Given the description of an element on the screen output the (x, y) to click on. 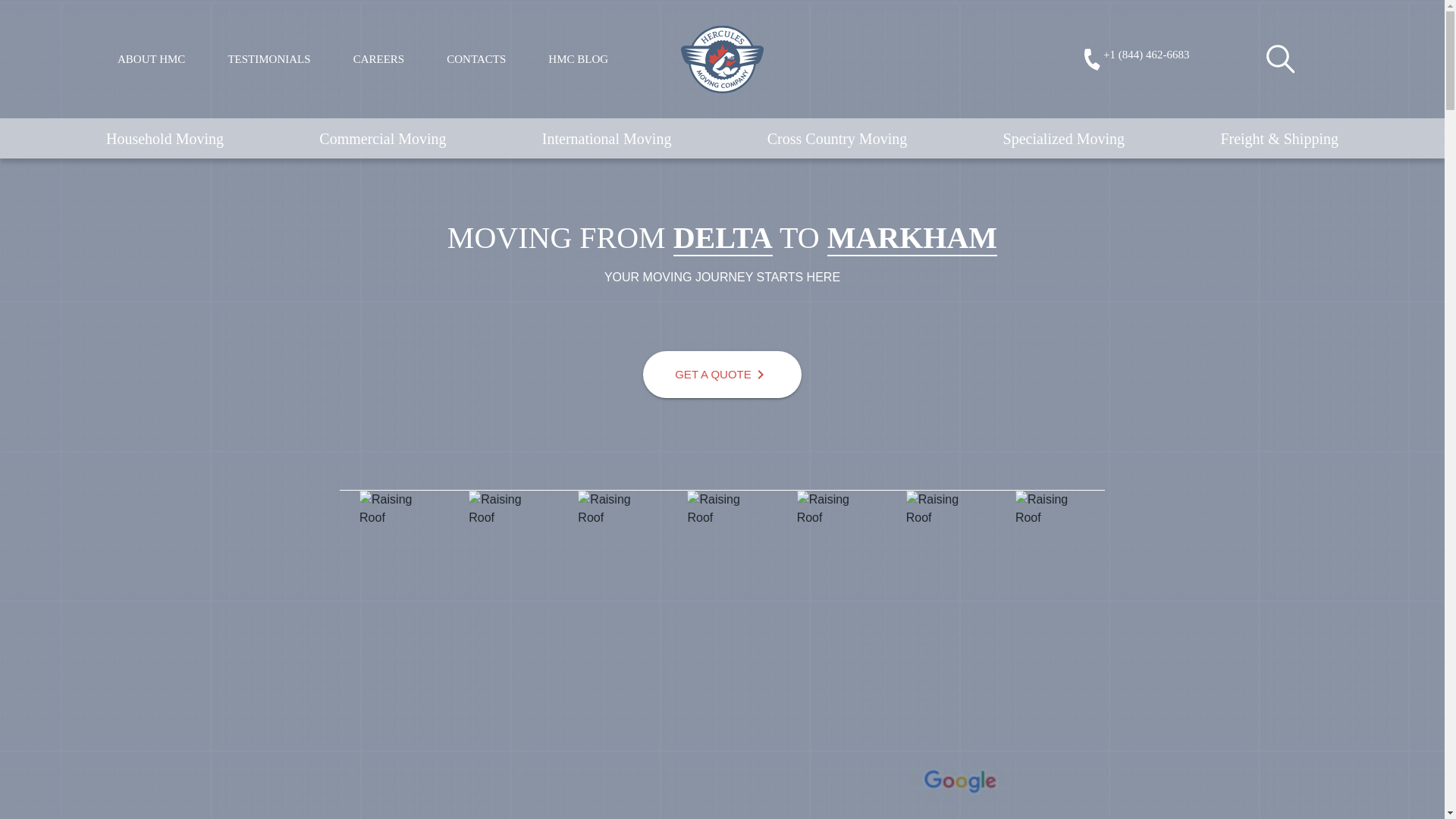
TESTIMONIALS (268, 59)
CONTACTS (475, 59)
ABOUT HMC (150, 59)
Household Moving (165, 137)
CAREERS (378, 59)
HMC BLOG (578, 59)
